Given the description of an element on the screen output the (x, y) to click on. 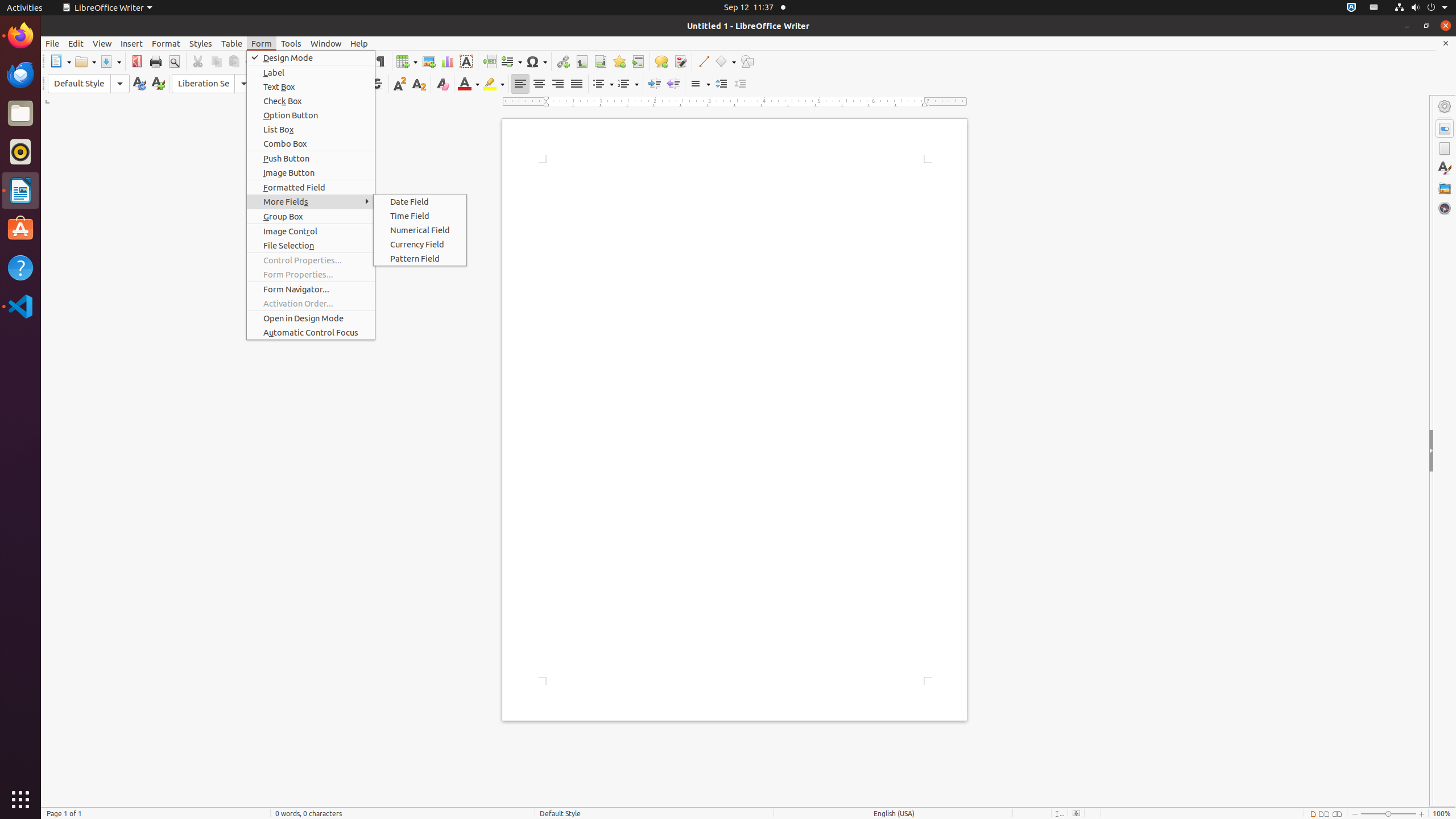
View Element type: menu (102, 43)
Page Element type: radio-button (1444, 148)
Right Element type: toggle-button (557, 83)
Text Box Element type: check-menu-item (310, 86)
Image Button Element type: check-menu-item (310, 172)
